Given the description of an element on the screen output the (x, y) to click on. 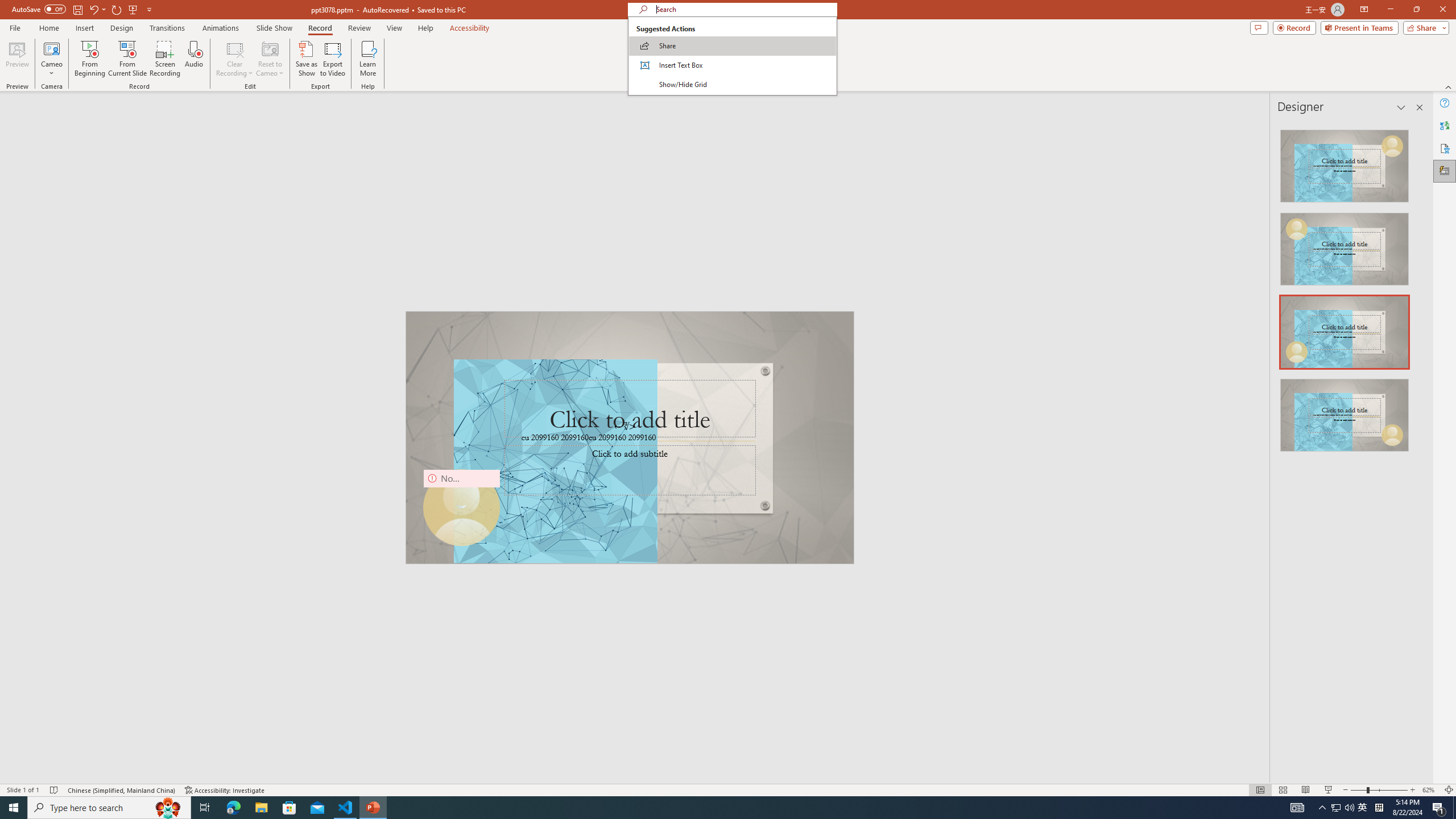
TextBox 7 (624, 426)
